Given the description of an element on the screen output the (x, y) to click on. 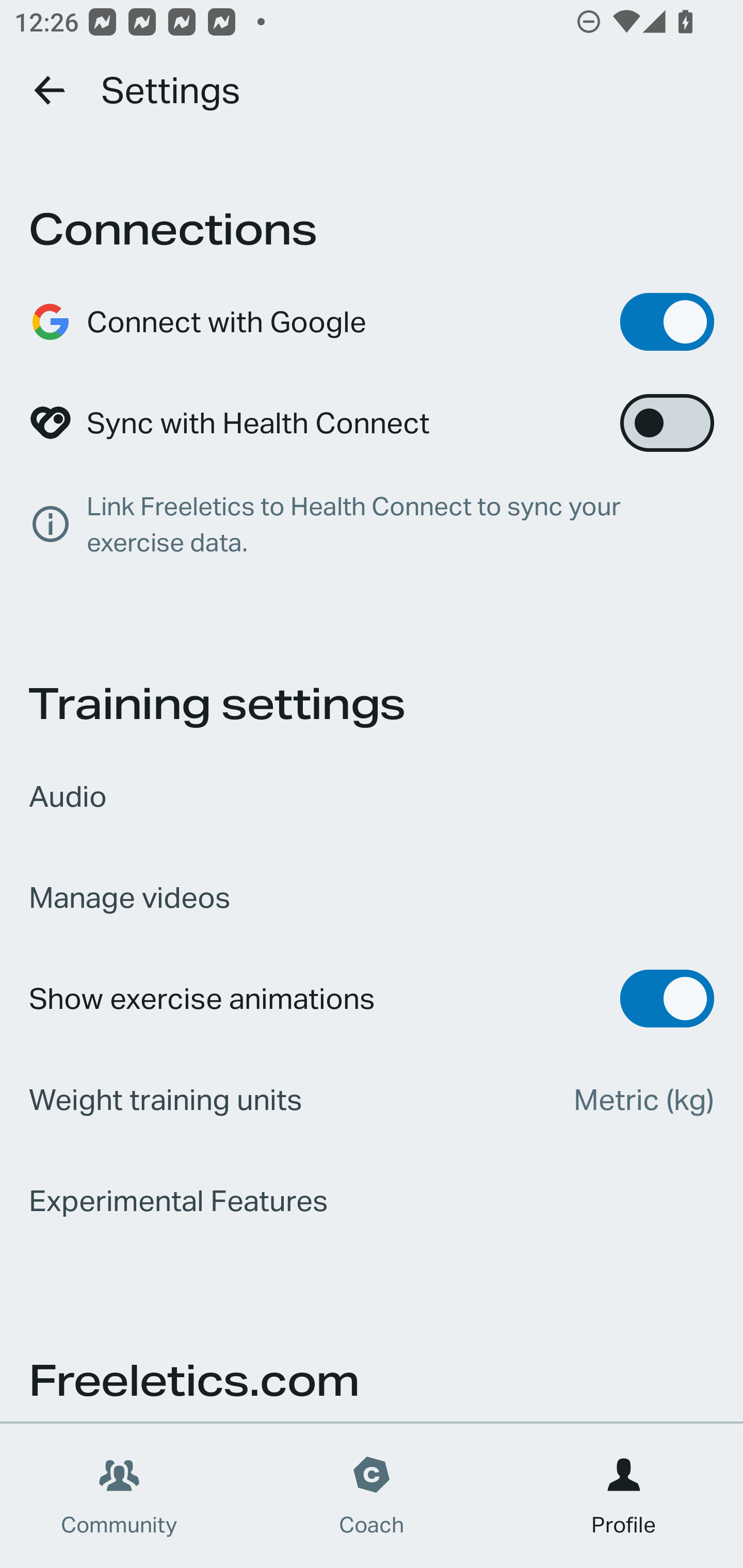
Go back (50, 90)
Connect with Google (371, 322)
Sync with Health Connect (371, 423)
Audio (371, 796)
Manage videos (371, 897)
Show exercise animations (371, 998)
Weight training units Metric (kg) (371, 1099)
Experimental Features (371, 1200)
Community (119, 1495)
Coach (371, 1495)
